Given the description of an element on the screen output the (x, y) to click on. 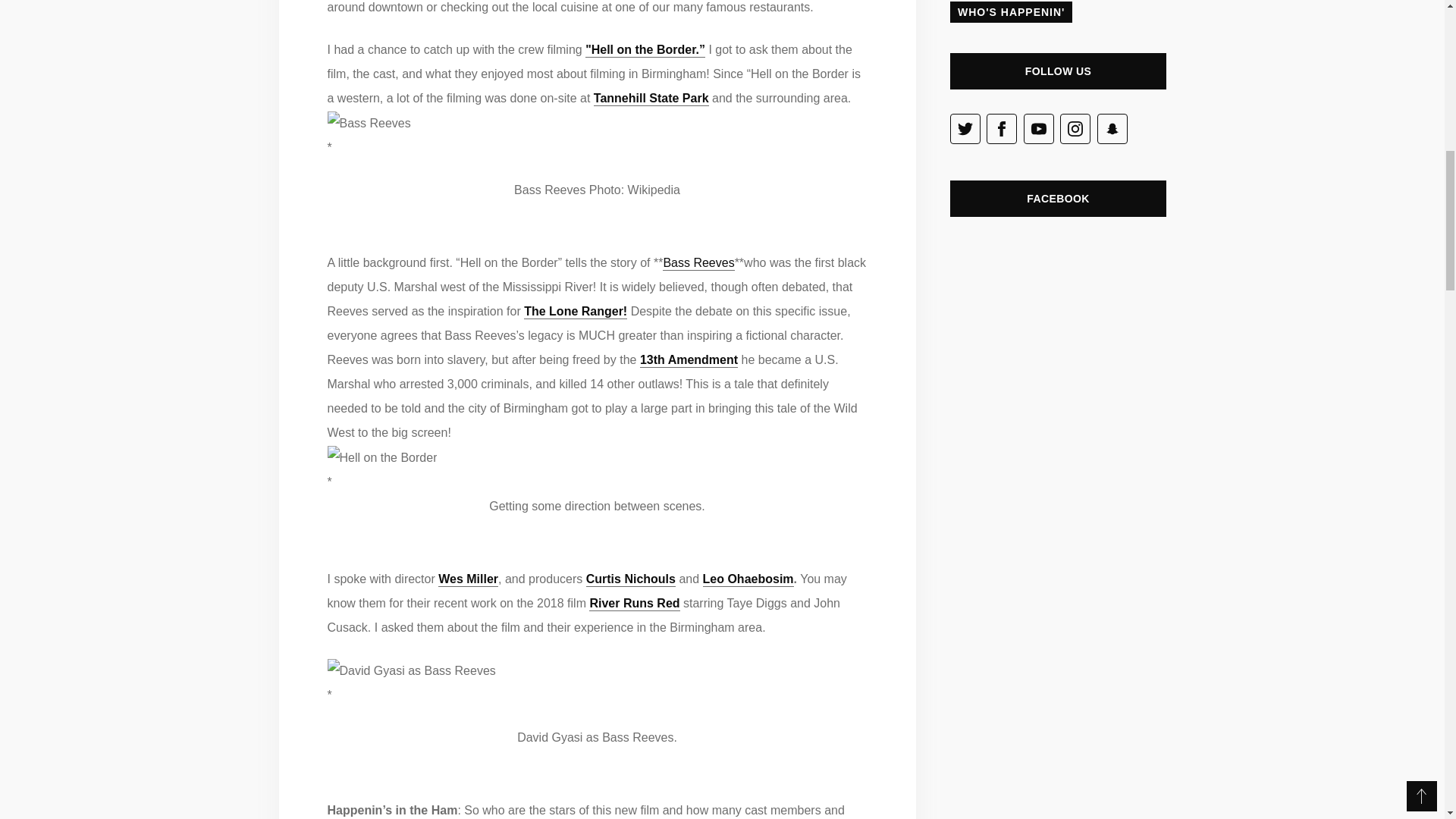
River Runs Red (634, 603)
The Lone Ranger! (575, 310)
Wes Miller (467, 578)
Bass Reeves (697, 262)
Leo Ohaebosim (748, 578)
Curtis Nichouls (630, 578)
Tannehill State Park (651, 97)
13th Amendment (689, 359)
